Given the description of an element on the screen output the (x, y) to click on. 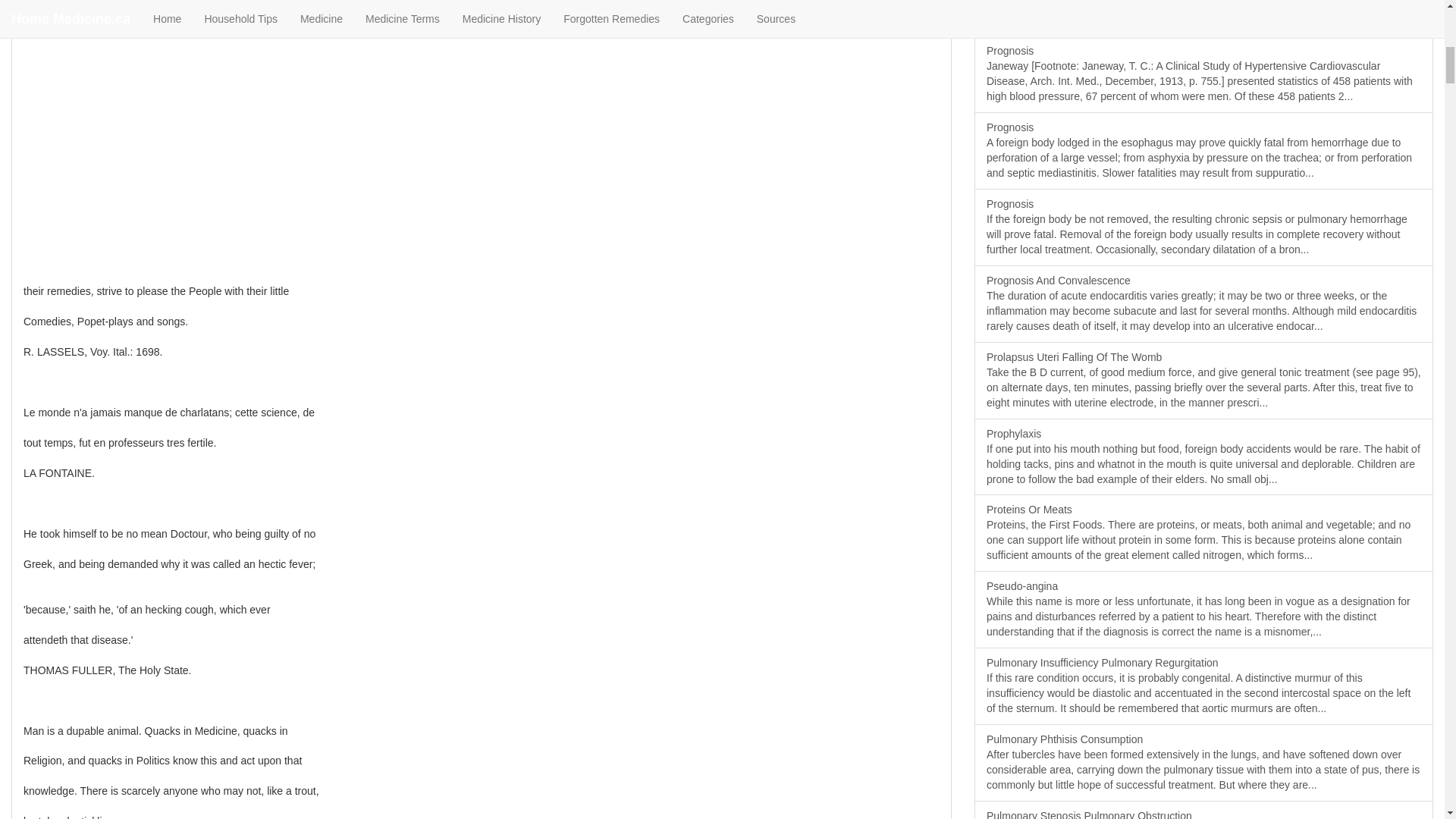
Advertisement (136, 111)
